Given the description of an element on the screen output the (x, y) to click on. 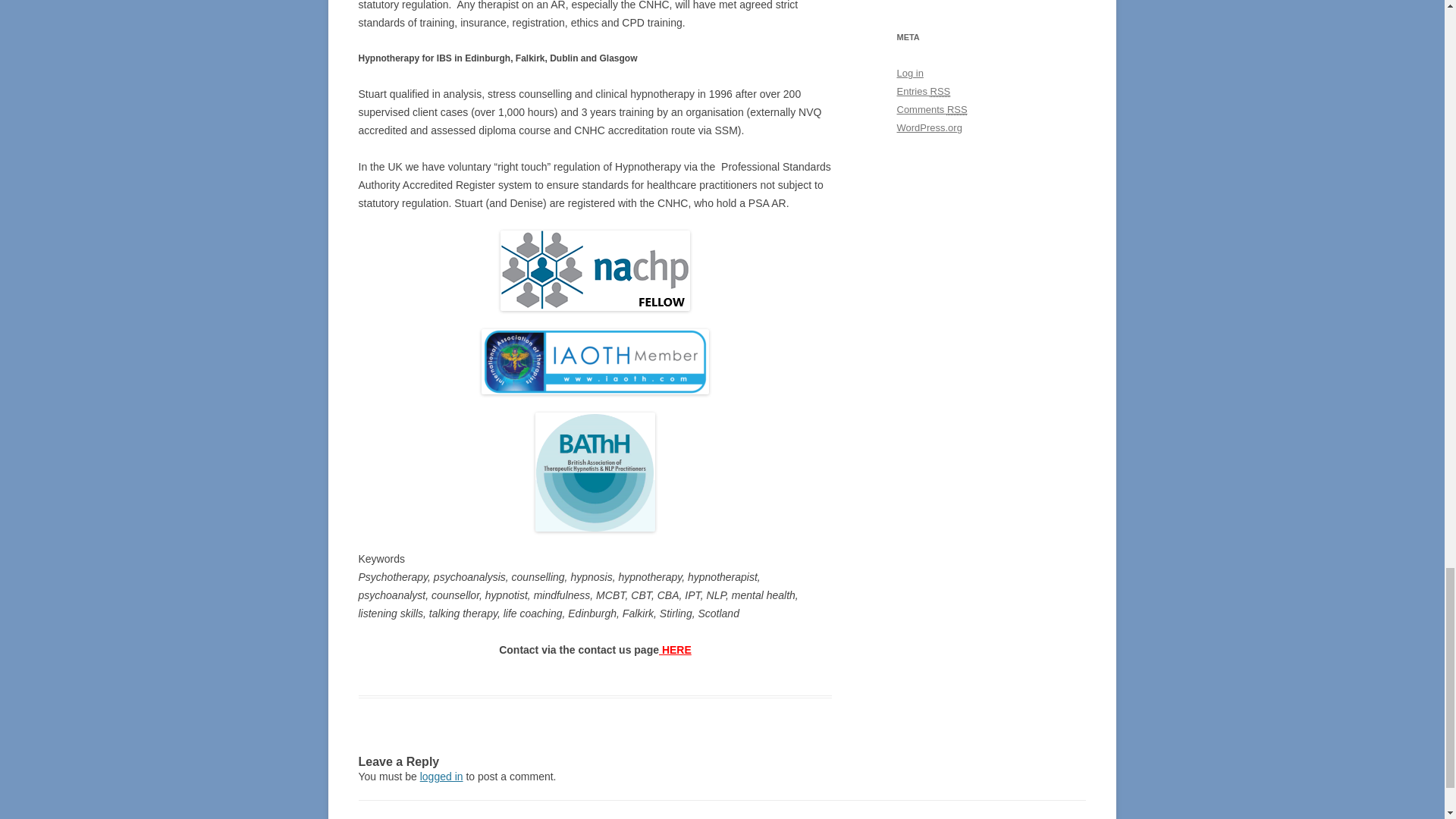
Really Simple Syndication (940, 91)
Really Simple Syndication (957, 109)
